Given the description of an element on the screen output the (x, y) to click on. 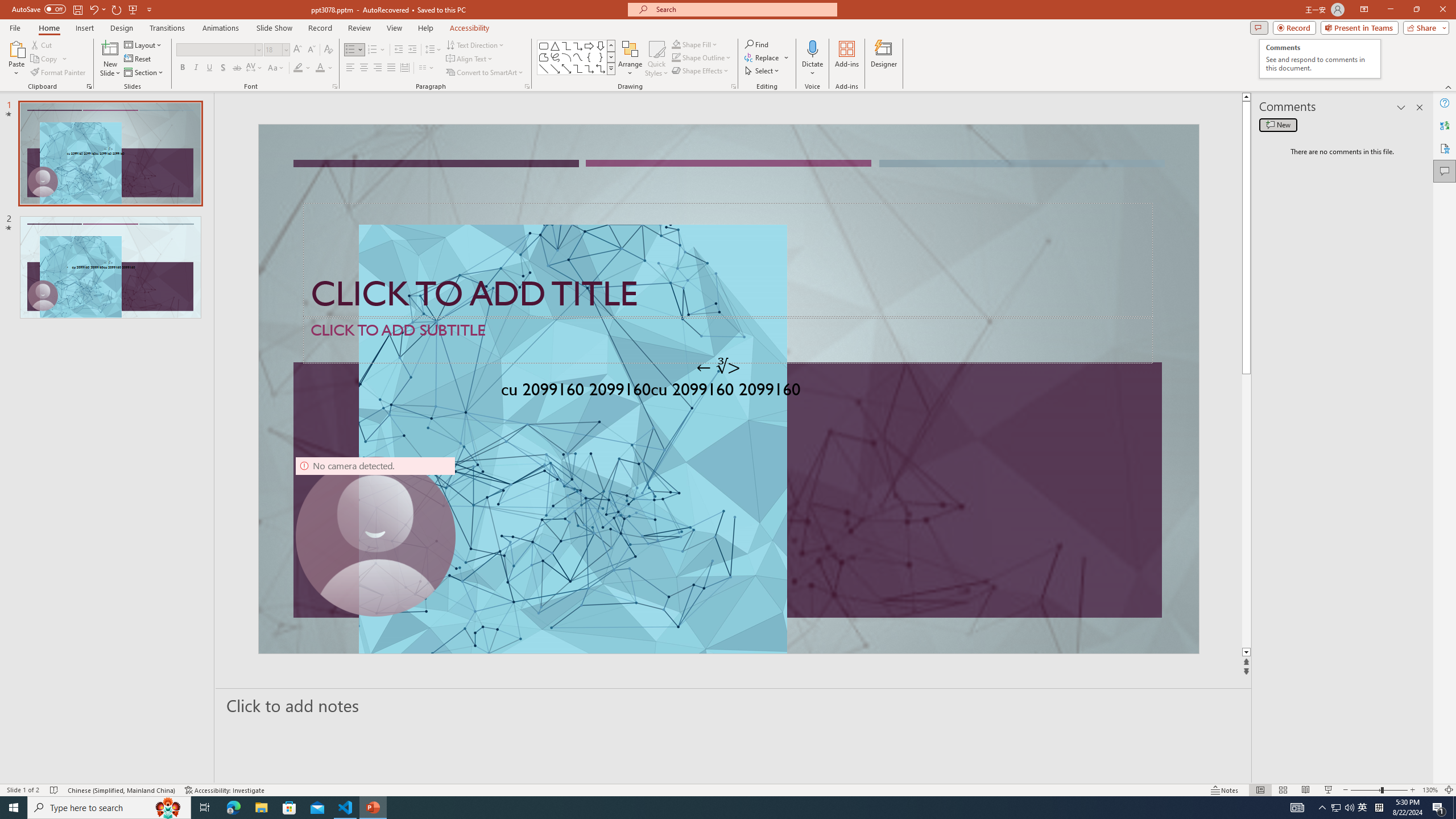
Shape Outline Green, Accent 1 (675, 56)
